Given the description of an element on the screen output the (x, y) to click on. 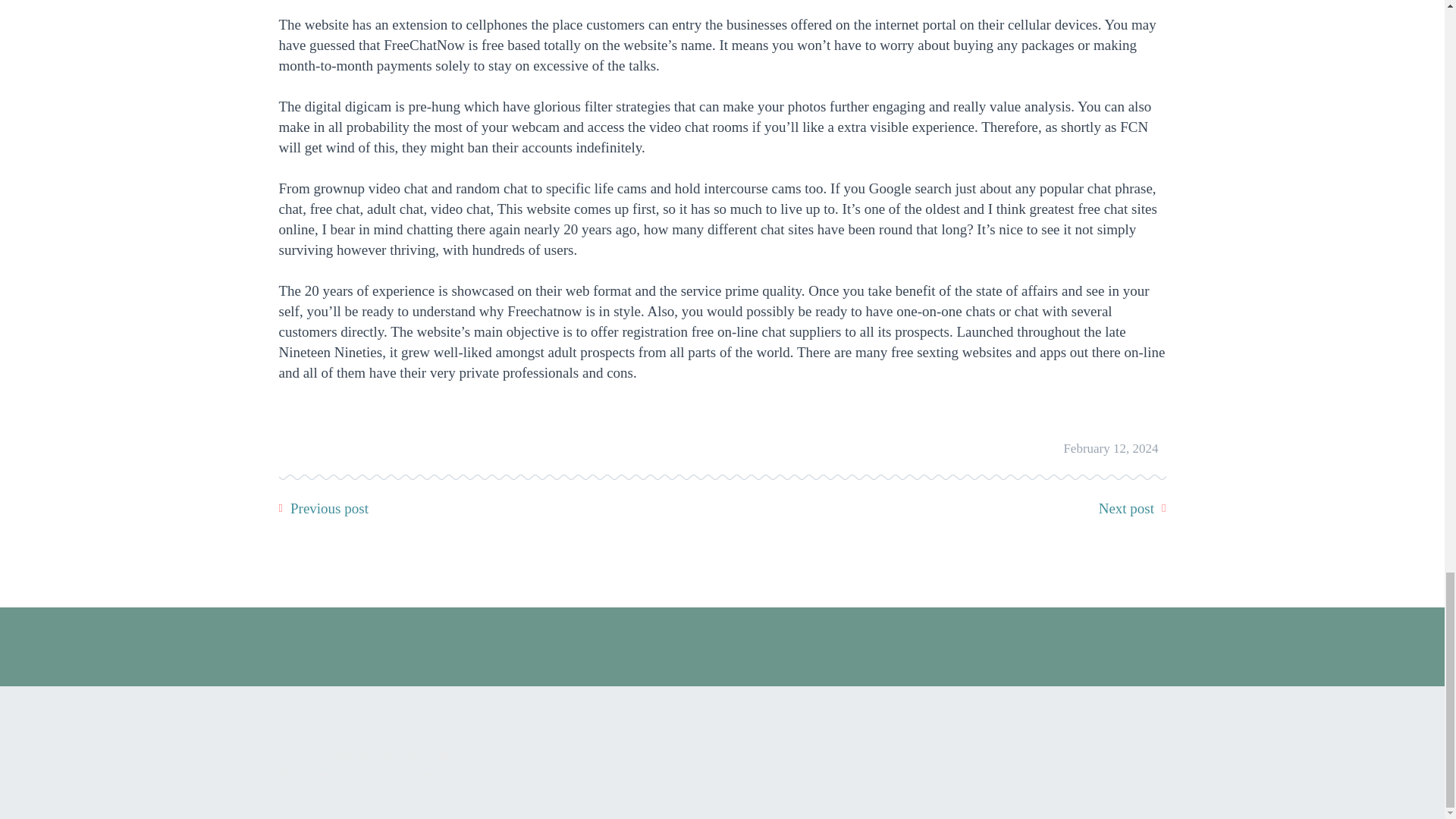
Next post (1126, 508)
Previous post (328, 508)
